Given the description of an element on the screen output the (x, y) to click on. 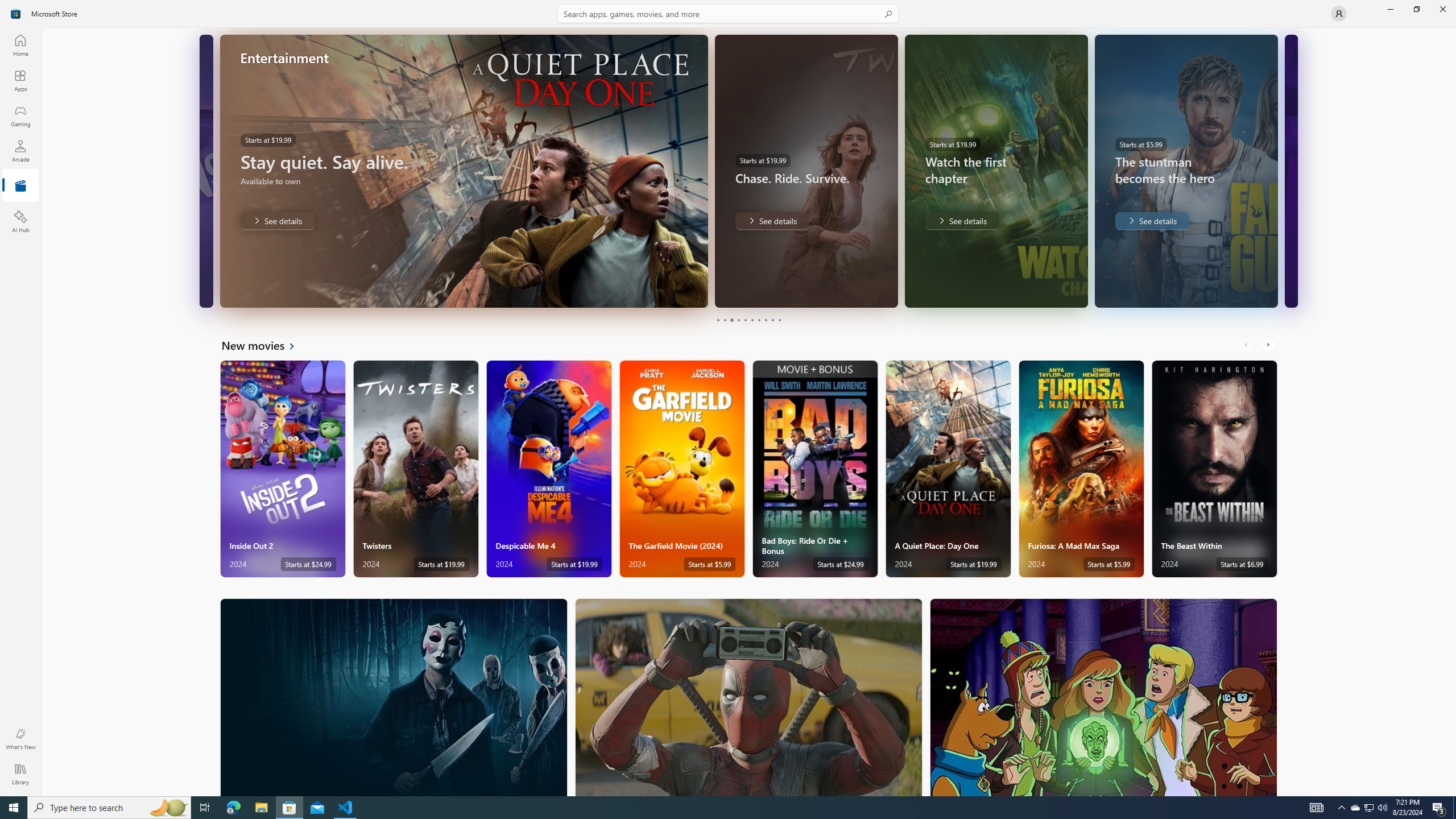
AutomationID: NavigationControl (728, 398)
Arcade (20, 150)
What's New (20, 738)
The Beast Within. Starts at $6.99   (1213, 469)
Page 5 (744, 319)
Page 1 (717, 319)
Bad Boys: Ride Or Die + Bonus. Starts at $24.99   (814, 469)
AutomationID: PosterImage (1103, 697)
Class: Image (15, 13)
Restore Microsoft Store (1416, 9)
User profile (1338, 13)
AutomationID: RightScrollButton (1269, 344)
